Given the description of an element on the screen output the (x, y) to click on. 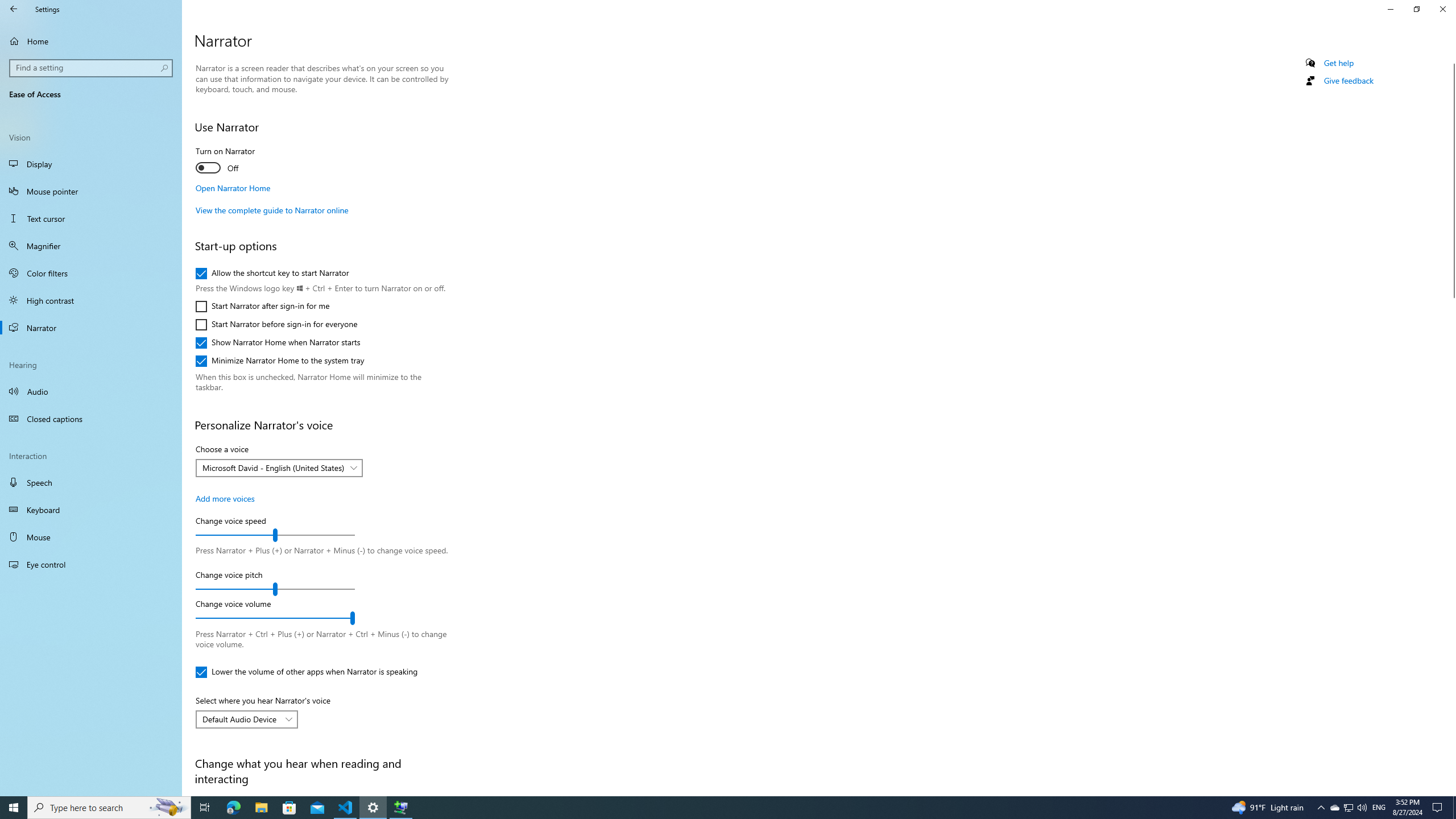
Vertical Large Increase (1451, 542)
Give feedback (1348, 80)
Lower the volume of other apps when Narrator is speaking (306, 672)
Home (91, 40)
Allow the shortcut key to start Narrator (272, 273)
View the complete guide to Narrator online (271, 209)
Vertical Small Decrease (1451, 58)
Start Narrator before sign-in for everyone (276, 324)
Visual Studio Code - 1 running window (345, 807)
Text cursor (91, 217)
Restore Settings (1416, 9)
File Explorer (261, 807)
Get help (1338, 62)
Action Center, No new notifications (1439, 807)
